Given the description of an element on the screen output the (x, y) to click on. 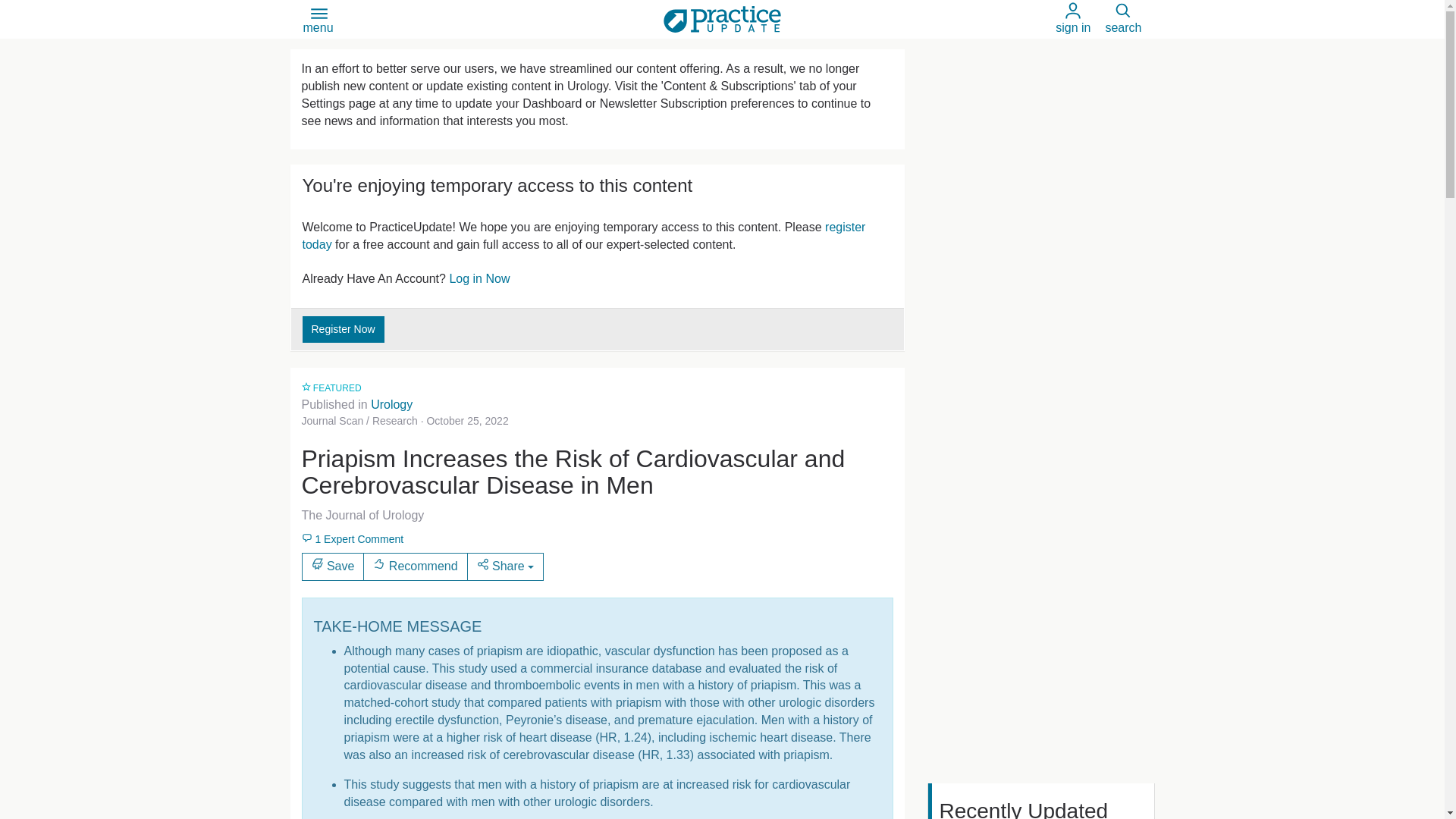
Register Now (342, 329)
sign in (1073, 19)
search (1122, 19)
 1 Expert Comment (352, 537)
Log in Now (478, 278)
 Save (333, 566)
register today (582, 235)
 Share (505, 566)
 Recommend (414, 566)
Urology (391, 404)
